Given the description of an element on the screen output the (x, y) to click on. 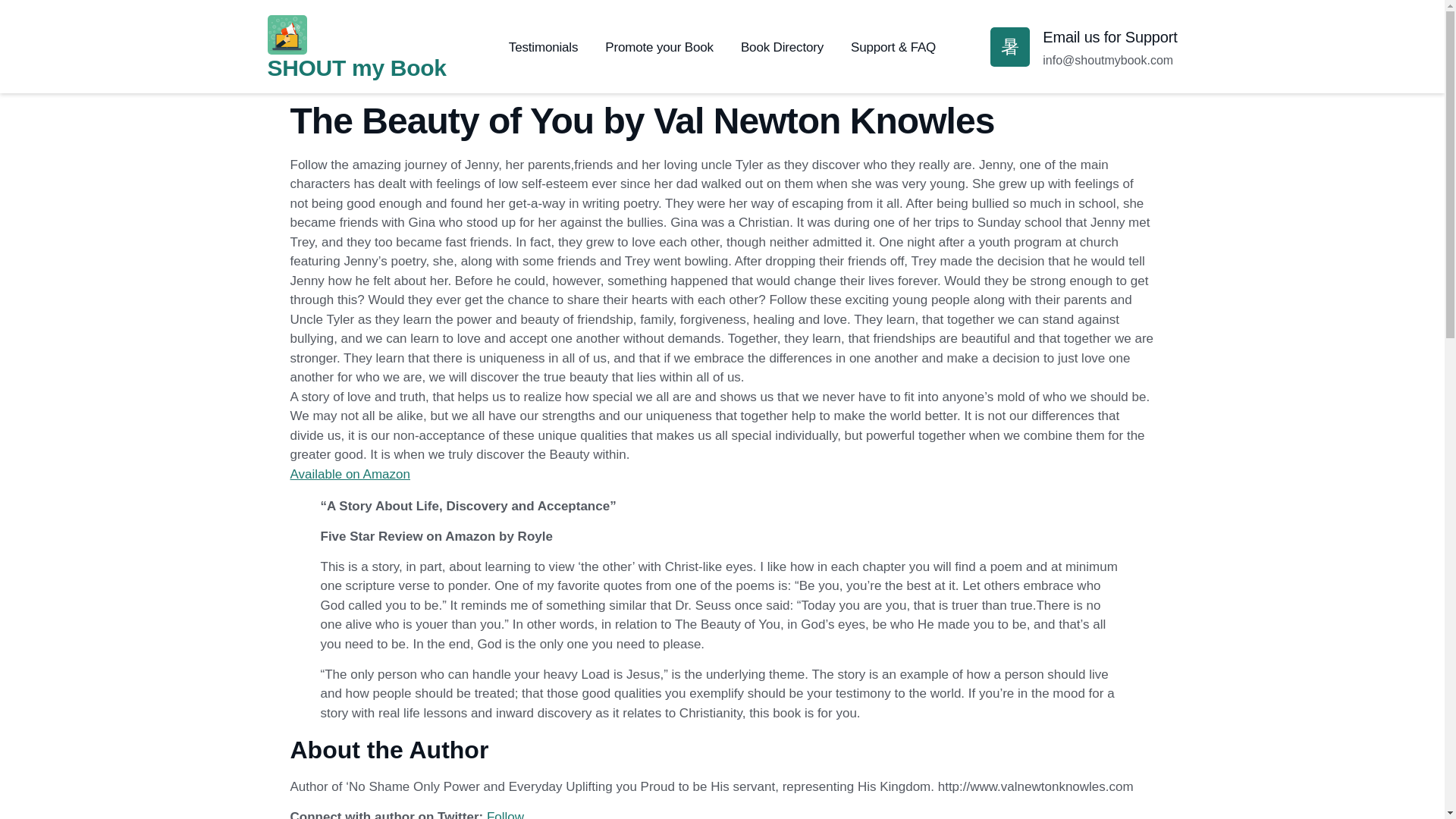
Promote your Book (659, 48)
Testimonials (543, 48)
SHOUT my Book (355, 67)
Available on Amazon (349, 473)
Follow (505, 814)
Book Directory (782, 48)
